Given the description of an element on the screen output the (x, y) to click on. 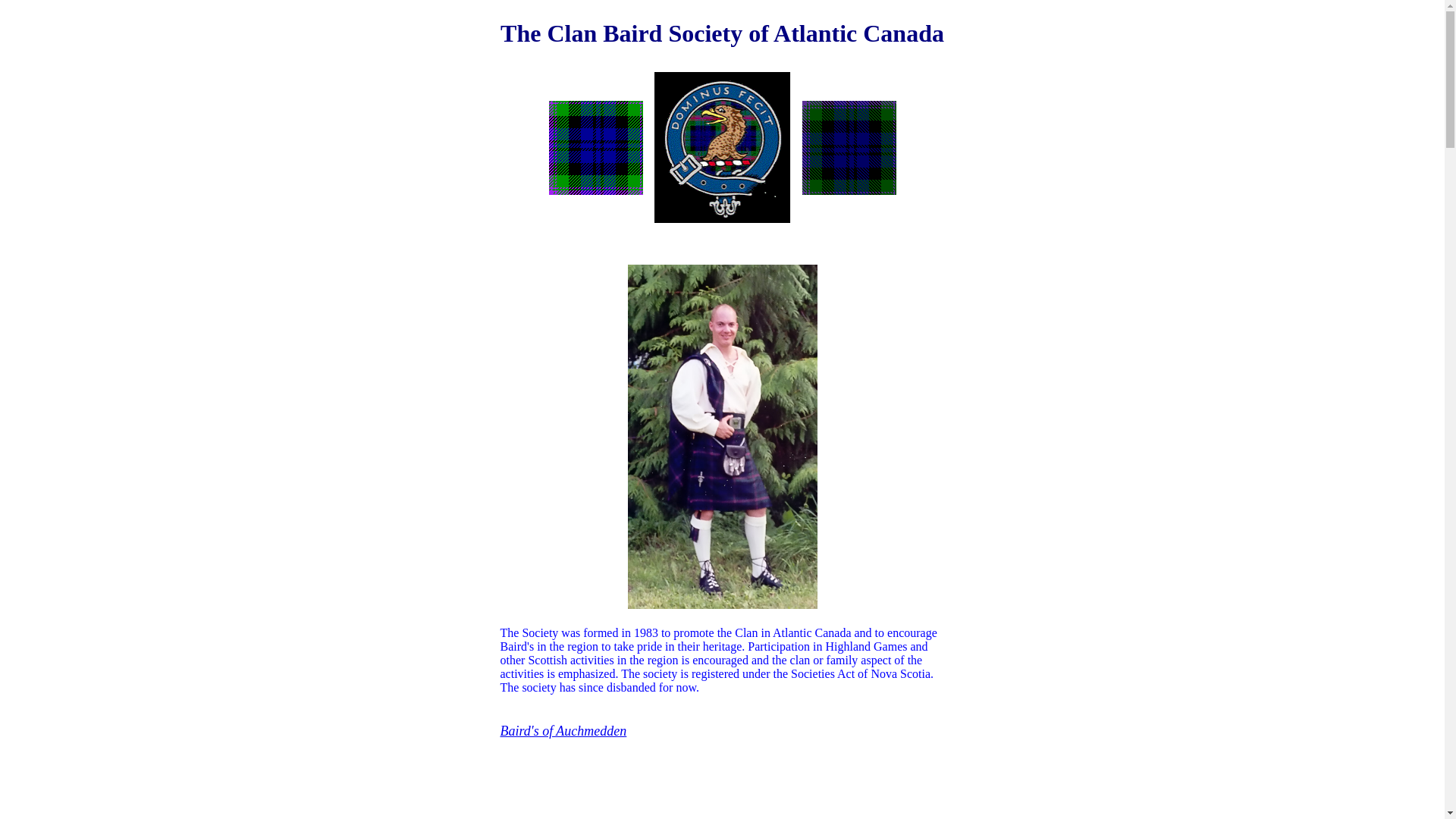
Baird's of Auchmedden Element type: text (563, 730)
